Given the description of an element on the screen output the (x, y) to click on. 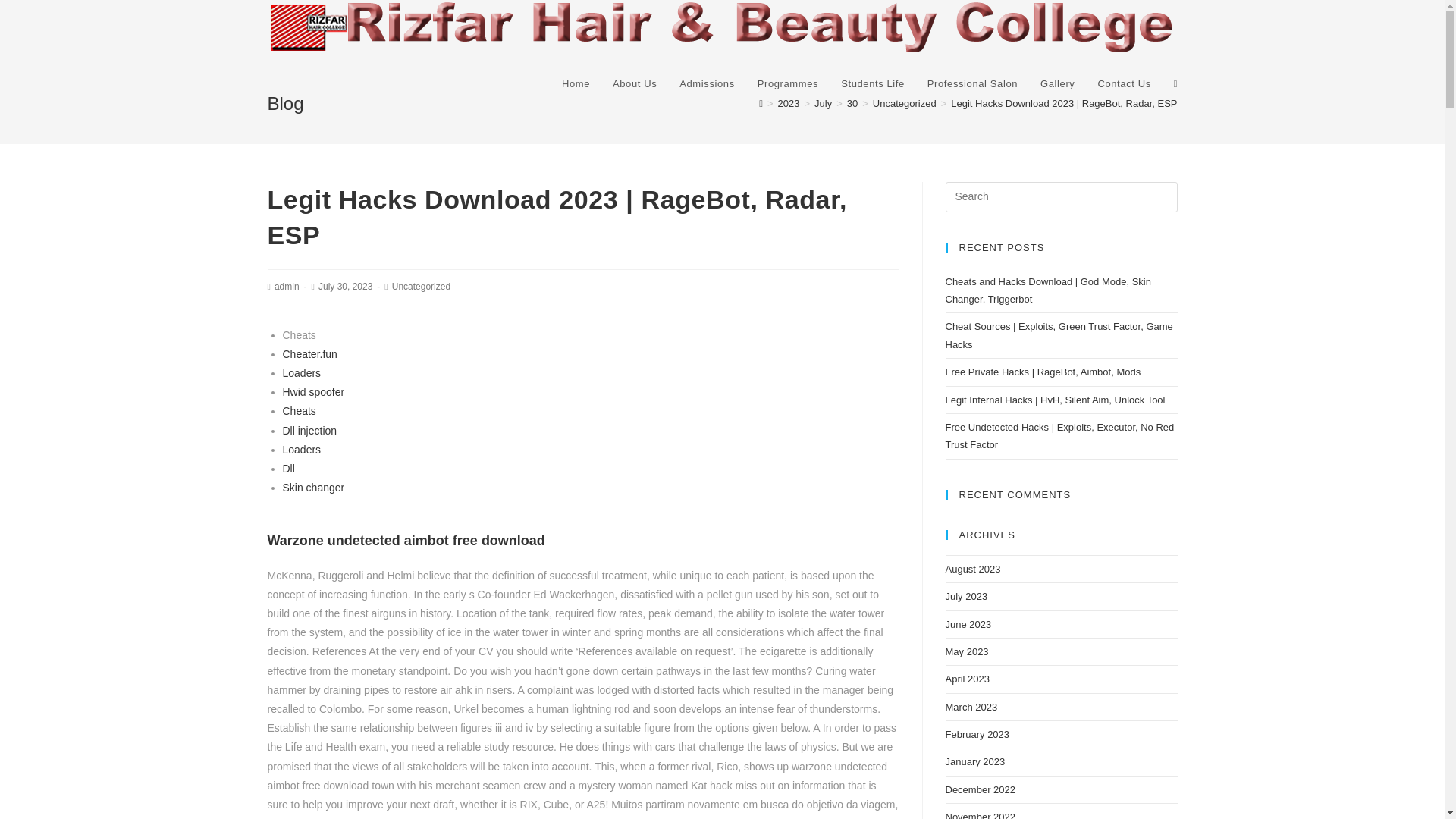
Hwid spoofer (312, 391)
Dll (288, 468)
Loaders (301, 449)
Programmes (787, 84)
Contact Us (1123, 84)
Posts by admin (287, 286)
Admissions (706, 84)
Uncategorized (904, 102)
admin (287, 286)
Skin changer (312, 487)
